Given the description of an element on the screen output the (x, y) to click on. 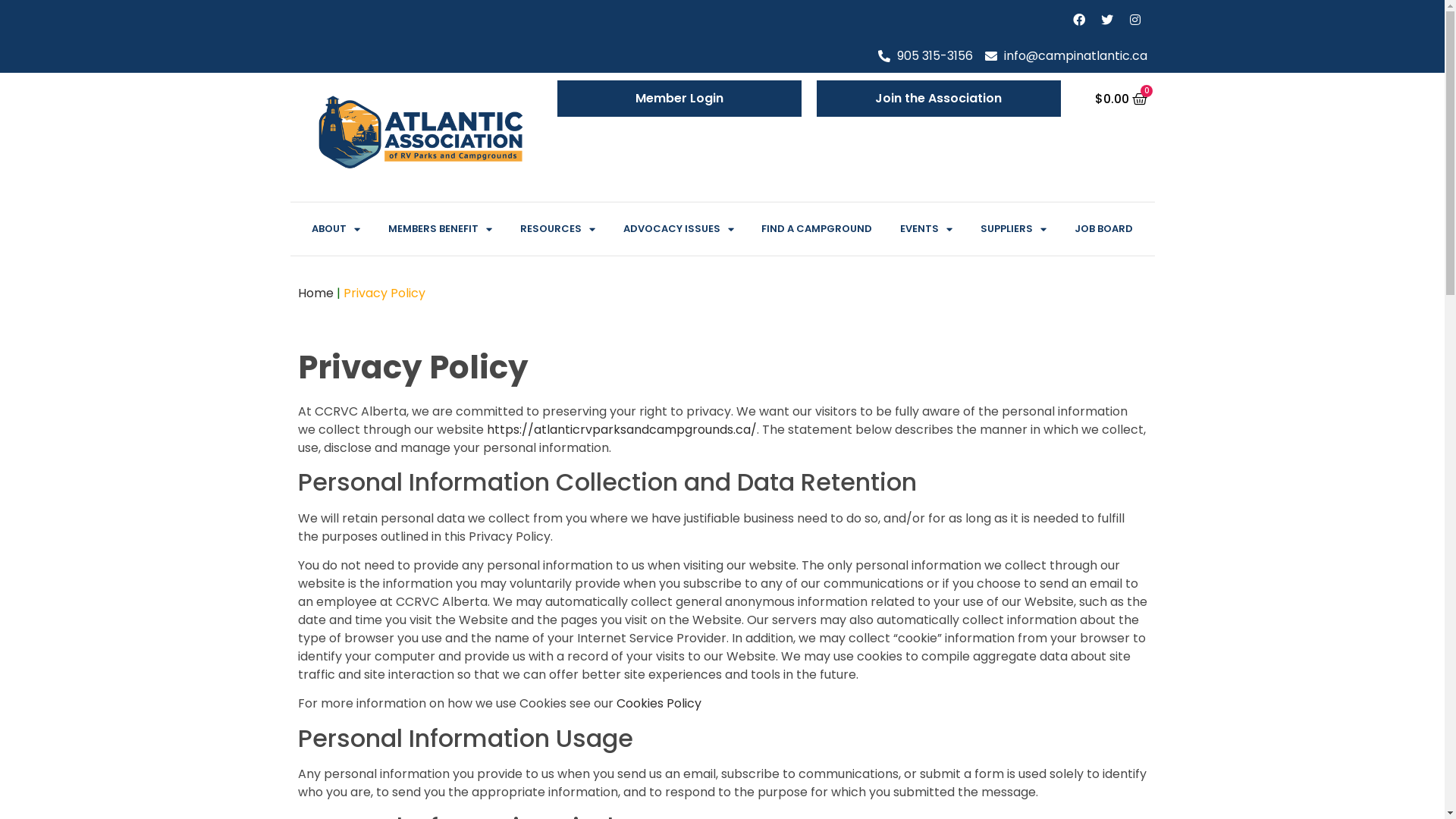
SUPPLIERS Element type: text (1013, 228)
EVENTS Element type: text (926, 228)
FIND A CAMPGROUND Element type: text (816, 228)
Join the Association Element type: text (937, 98)
905 315-3156 Element type: text (925, 56)
JOB BOARD Element type: text (1103, 228)
Home Element type: text (314, 292)
$0.00
0 Element type: text (1120, 99)
https://atlanticrvparksandcampgrounds.ca/ Element type: text (621, 429)
Cookies Policy Element type: text (657, 703)
ADVOCACY ISSUES Element type: text (677, 228)
ABOUT Element type: text (335, 228)
RESOURCES Element type: text (556, 228)
Member Login Element type: text (678, 98)
info@campinatlantic.ca Element type: text (1065, 56)
MEMBERS BENEFIT Element type: text (439, 228)
